Given the description of an element on the screen output the (x, y) to click on. 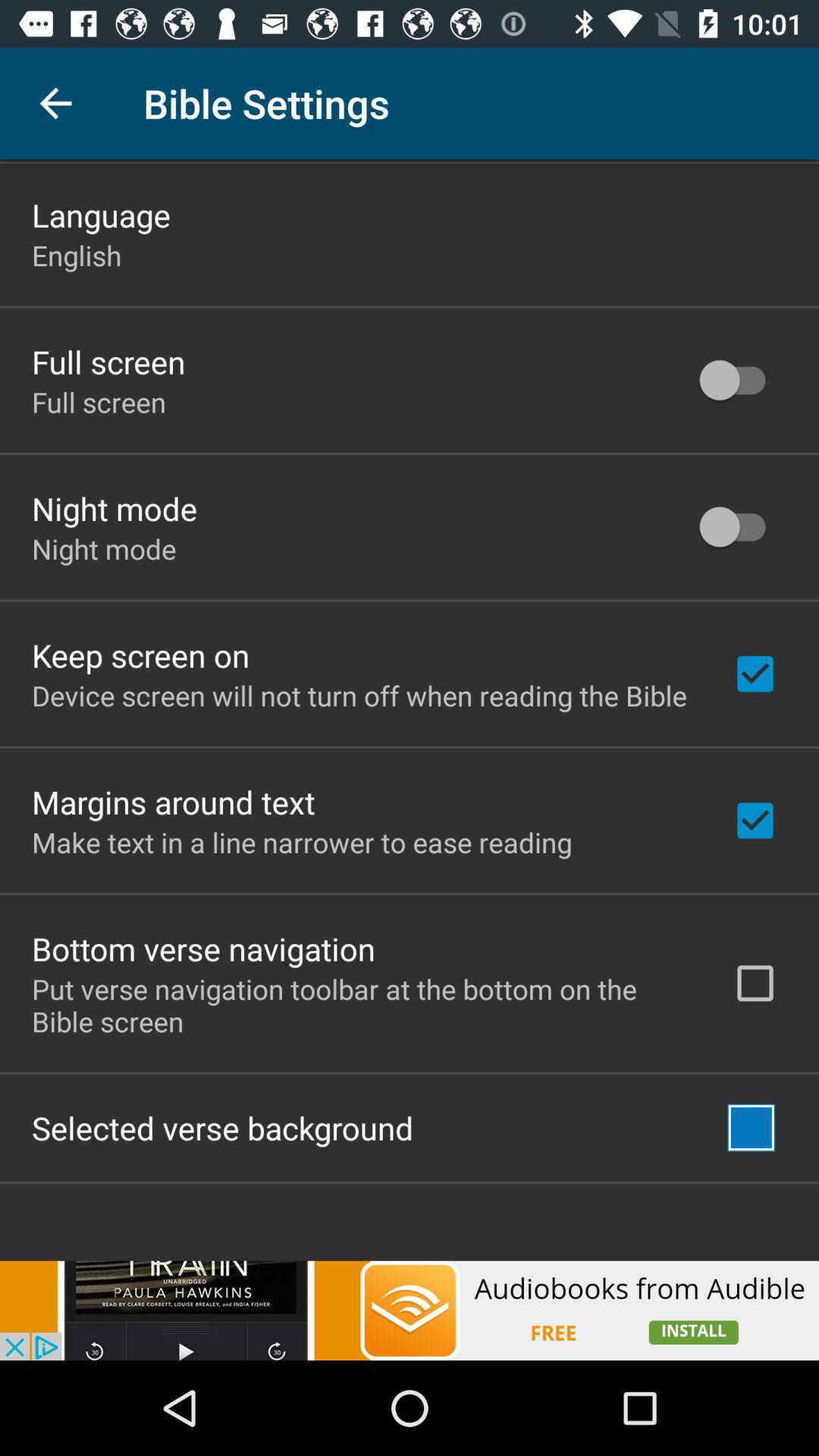
interact with advertisement (409, 1310)
